Given the description of an element on the screen output the (x, y) to click on. 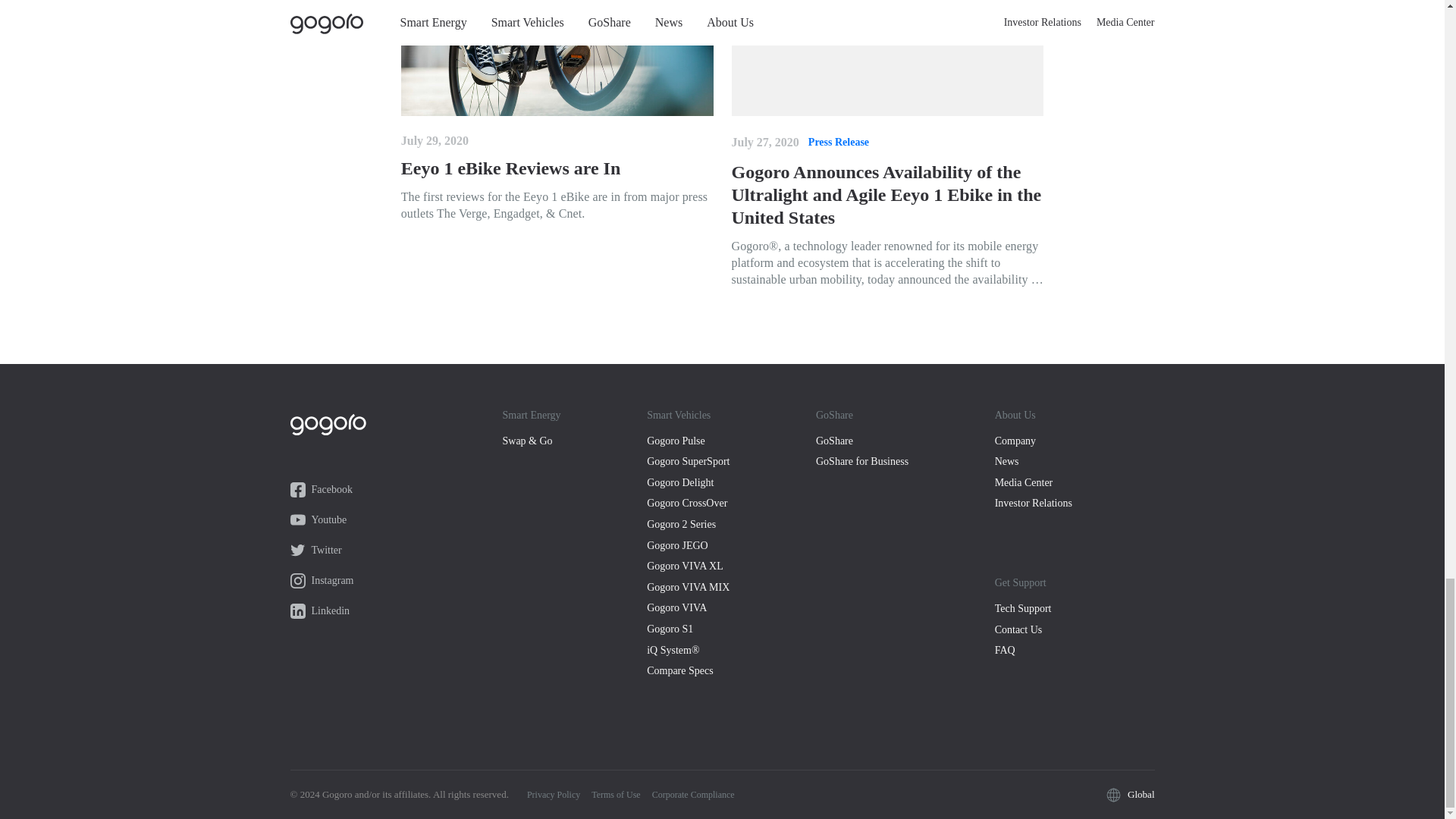
Gogoro SuperSport (730, 461)
News (1076, 461)
GoShare for Business (904, 461)
Eeyo 1 eBike Reviews are In (557, 168)
Twitter (397, 549)
Gogoro JEGO (730, 545)
Gogoro 2 Series (730, 524)
Gogoro CrossOver (730, 503)
Linkedin (397, 611)
Instagram (397, 580)
